Given the description of an element on the screen output the (x, y) to click on. 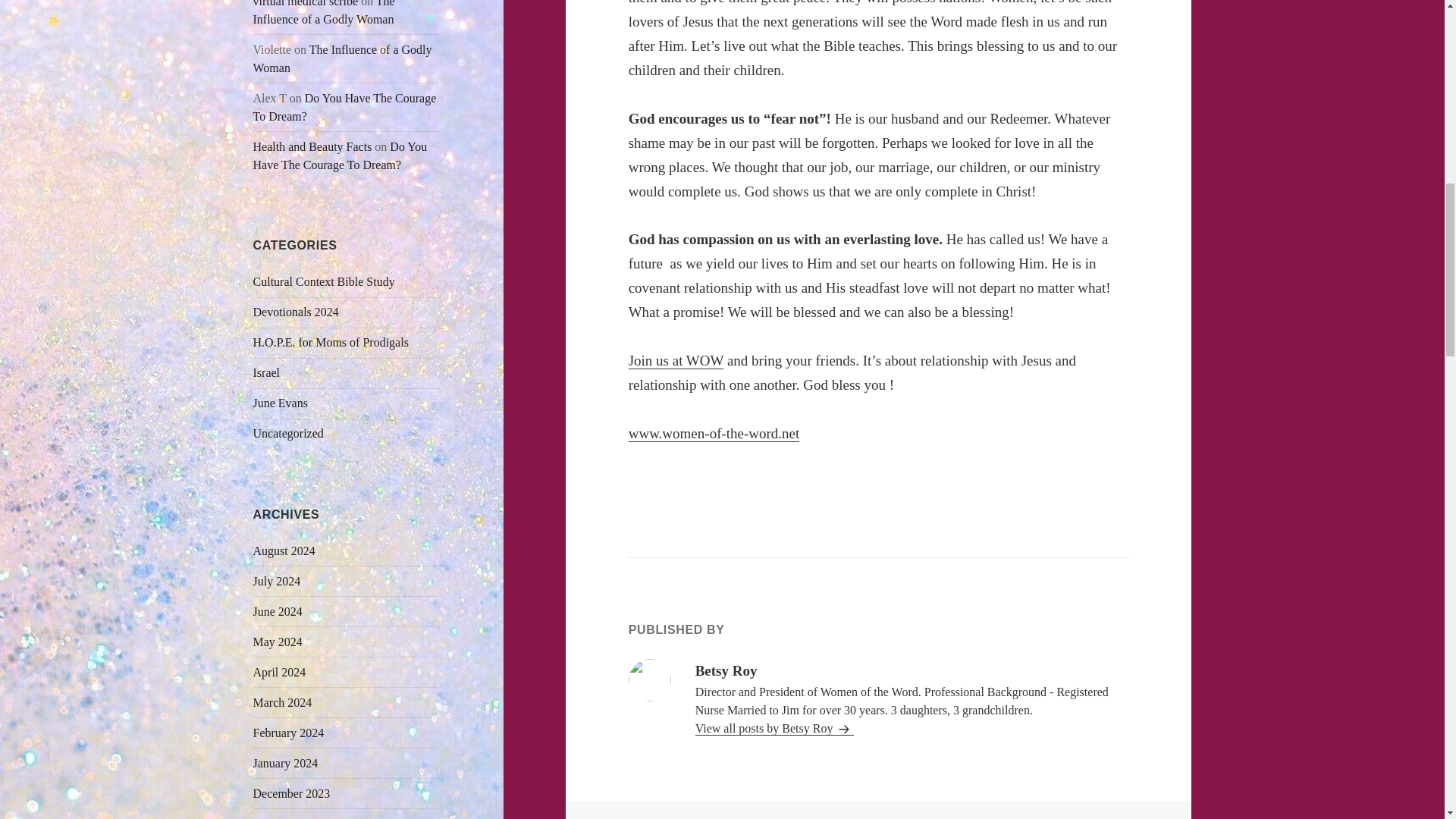
March 2024 (283, 702)
October 2023 (286, 818)
Health and Beauty Facts (312, 146)
Do You Have The Courage To Dream? (340, 155)
December 2023 (291, 793)
June 2024 (277, 611)
H.O.P.E. for Moms of Prodigals (331, 341)
February 2024 (288, 732)
virtual medical scribe (305, 3)
August 2024 (284, 550)
